Given the description of an element on the screen output the (x, y) to click on. 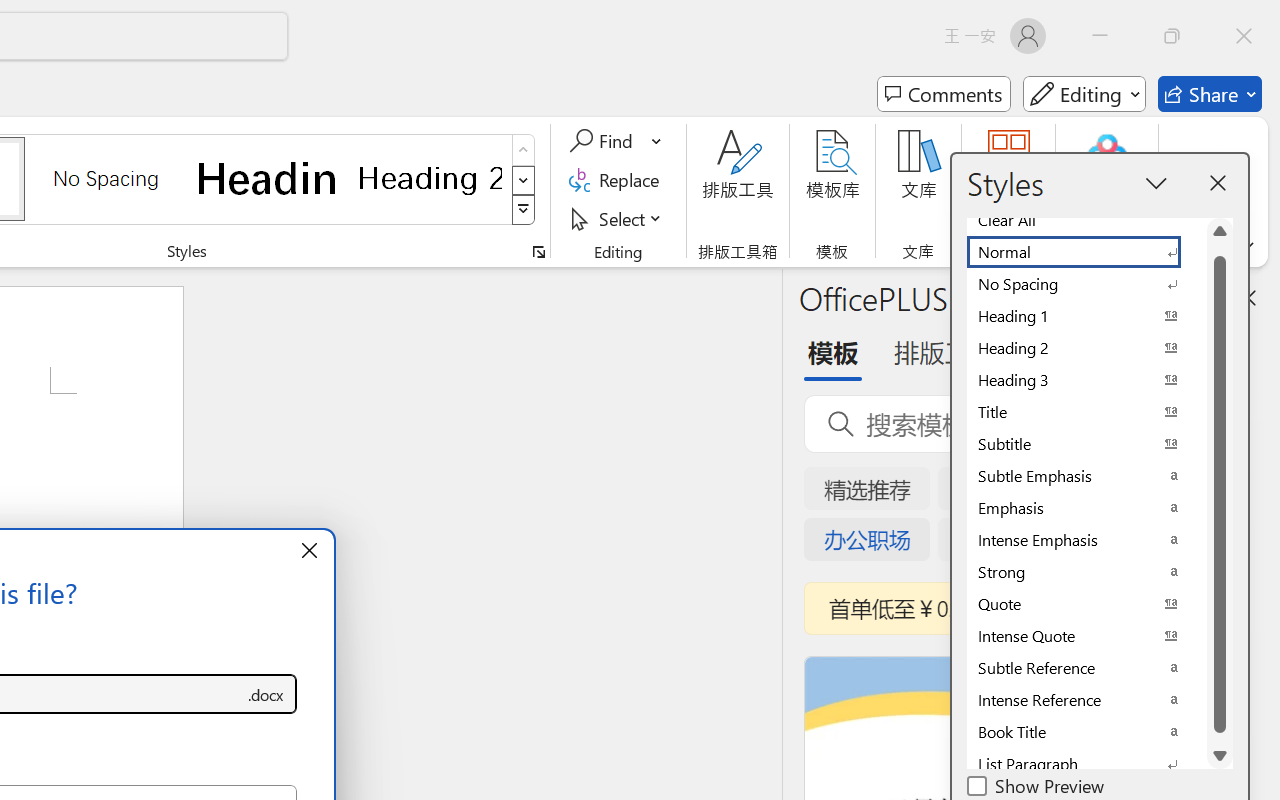
Share (1210, 94)
Heading 3 (1086, 380)
Heading 1 (267, 178)
Quote (1086, 604)
Row up (523, 150)
Class: NetUIImage (523, 210)
Intense Reference (1086, 700)
Styles... (538, 252)
Heading 2 (429, 178)
